Given the description of an element on the screen output the (x, y) to click on. 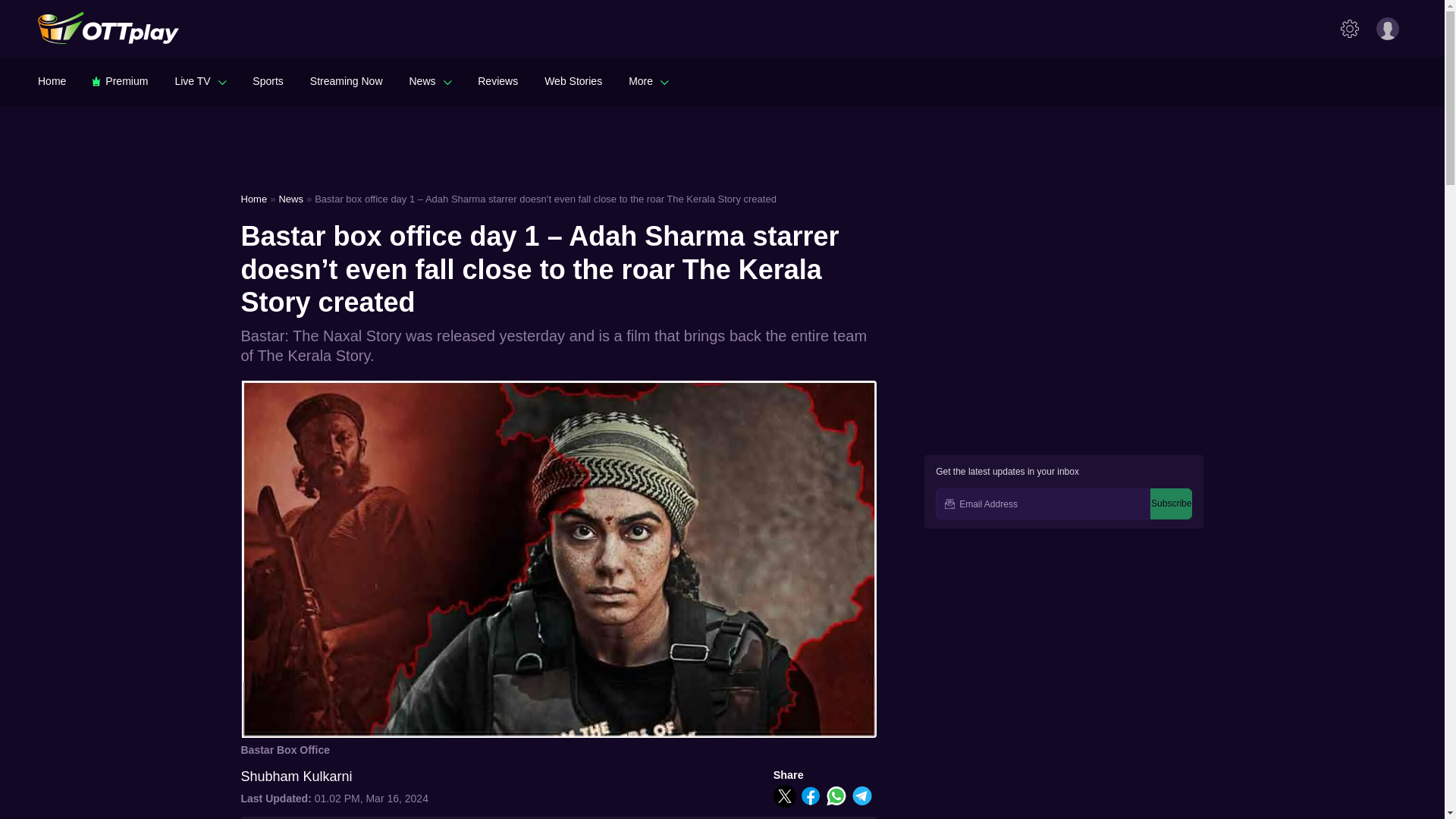
Premium (120, 80)
Live TV (199, 80)
Streaming Now (346, 80)
Web Stories (573, 80)
News (430, 80)
